Given the description of an element on the screen output the (x, y) to click on. 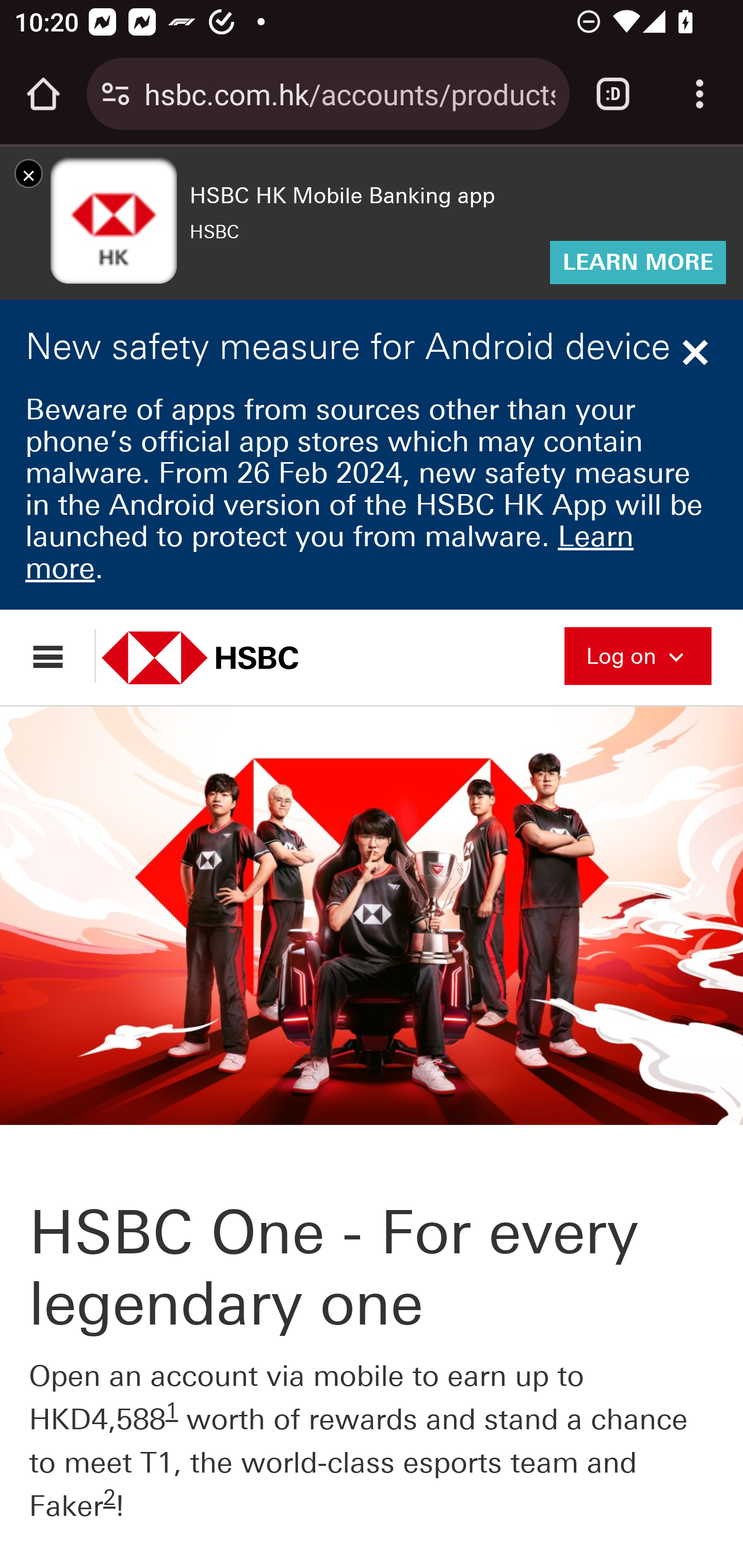
Open the home page (43, 93)
Connection is secure (115, 93)
Switch or close tabs (612, 93)
Customize and control Google Chrome (699, 93)
X (28, 173)
LEARN MORE (638, 262)
Close (697, 352)
Learn more (329, 551)
Log on Collapsed (638, 653)
Open menu (57, 655)
HSBC Hong Kong Bank (221, 658)
